Given the description of an element on the screen output the (x, y) to click on. 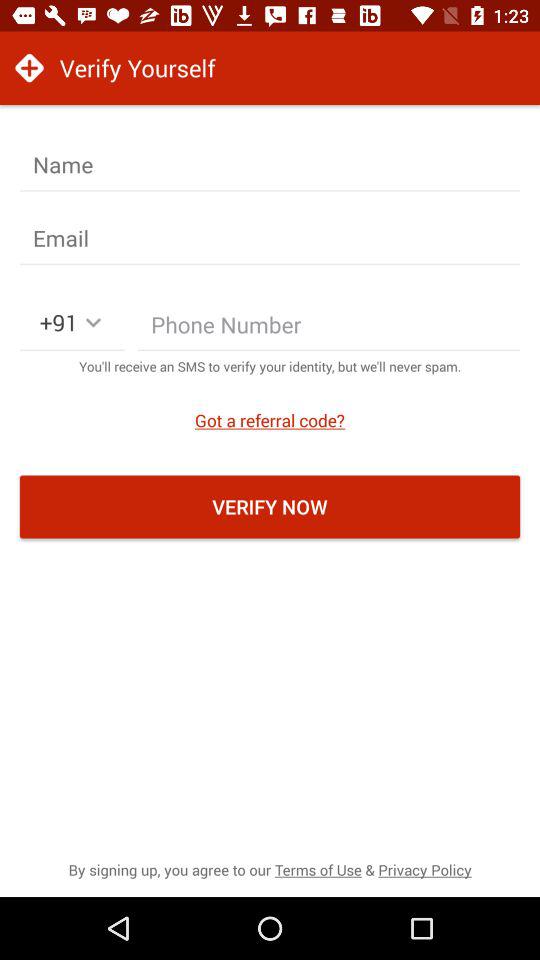
name enter box (269, 165)
